Given the description of an element on the screen output the (x, y) to click on. 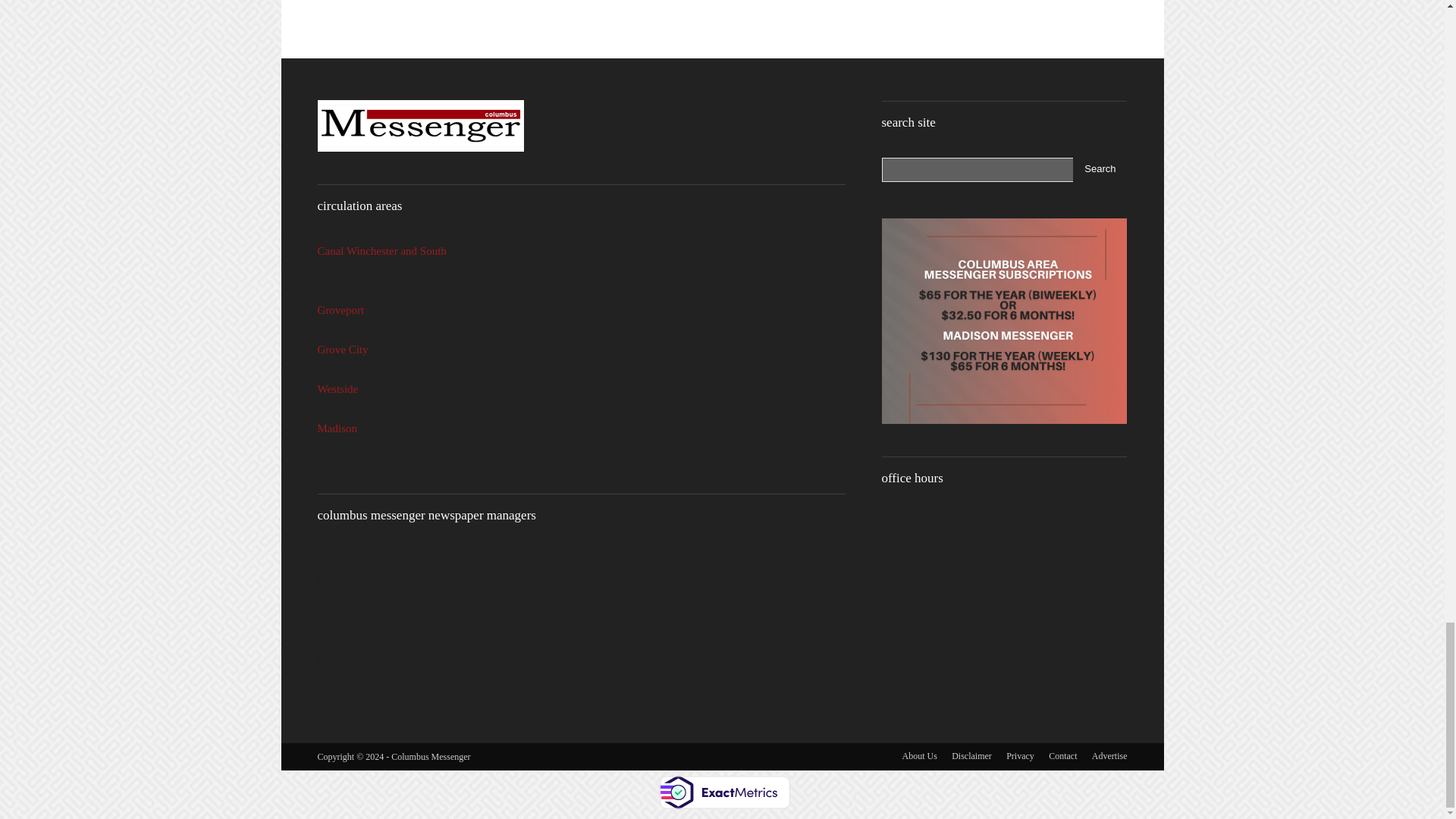
Search (1099, 169)
